Given the description of an element on the screen output the (x, y) to click on. 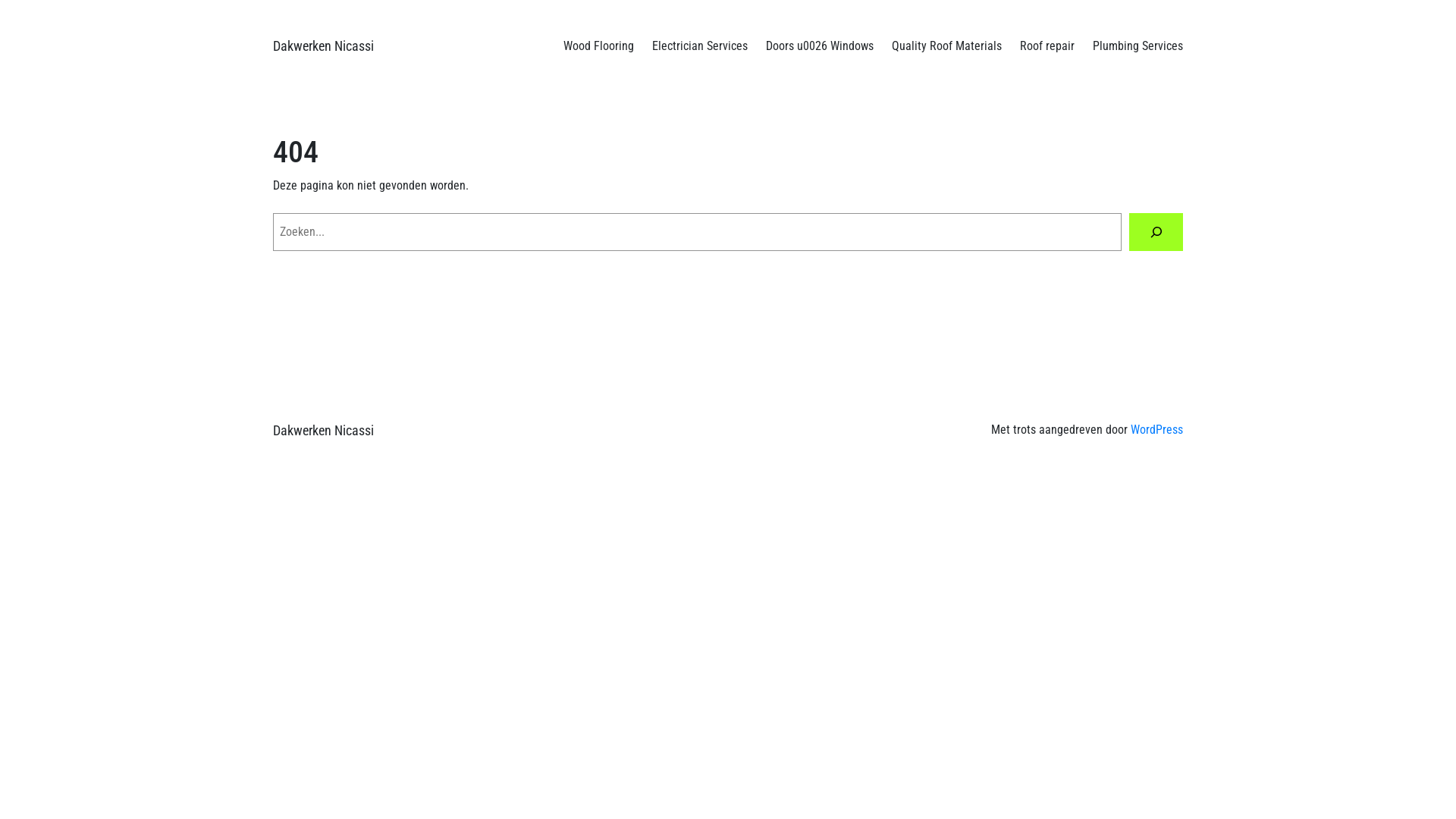
Electrician Services Element type: text (699, 46)
Dakwerken Nicassi Element type: text (323, 430)
Doors u0026 Windows Element type: text (819, 46)
Roof repair Element type: text (1046, 46)
Plumbing Services Element type: text (1137, 46)
Wood Flooring Element type: text (598, 46)
WordPress Element type: text (1156, 429)
Quality Roof Materials Element type: text (946, 46)
Dakwerken Nicassi Element type: text (323, 45)
